Given the description of an element on the screen output the (x, y) to click on. 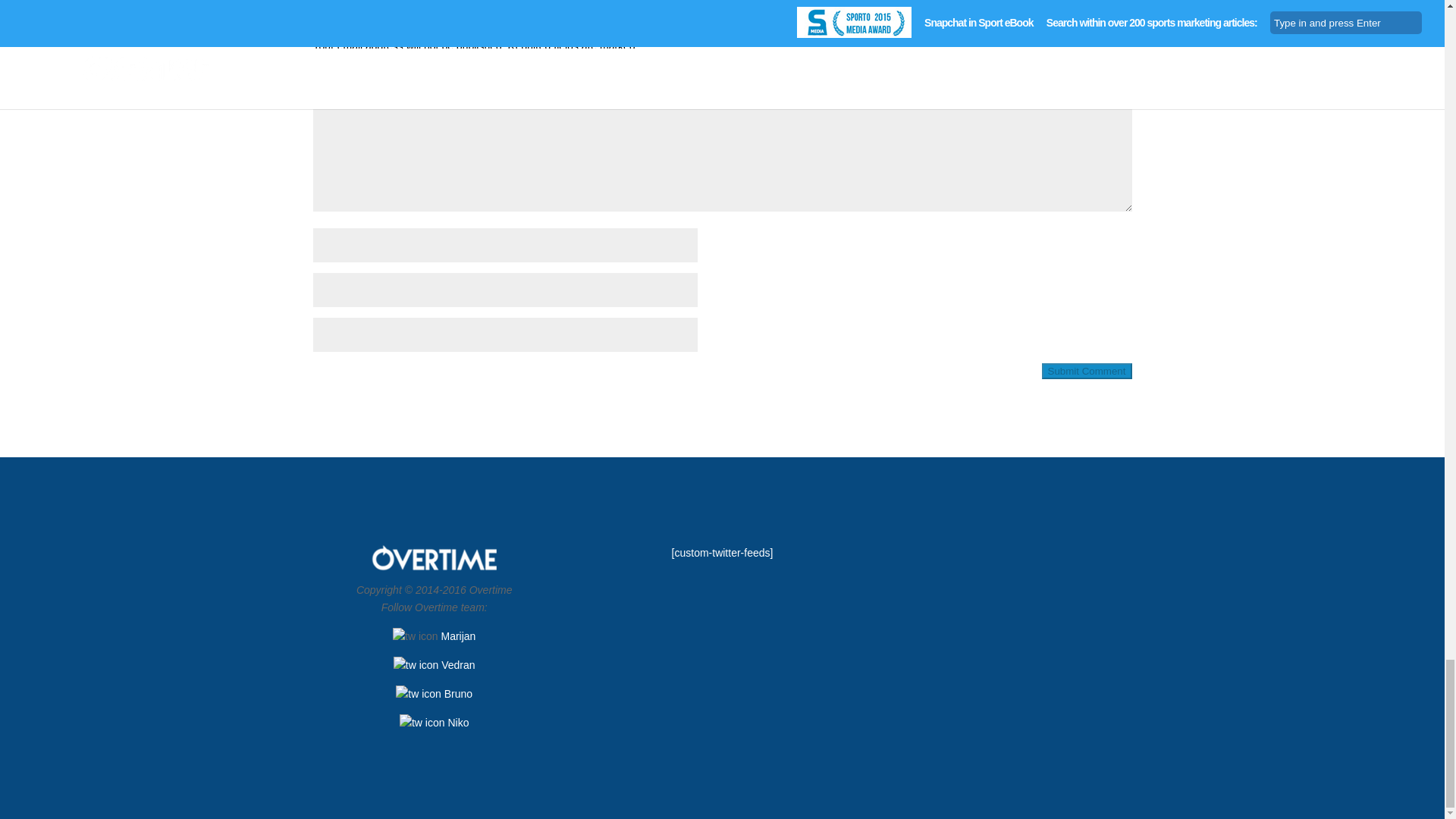
Submit Comment (1087, 371)
